Given the description of an element on the screen output the (x, y) to click on. 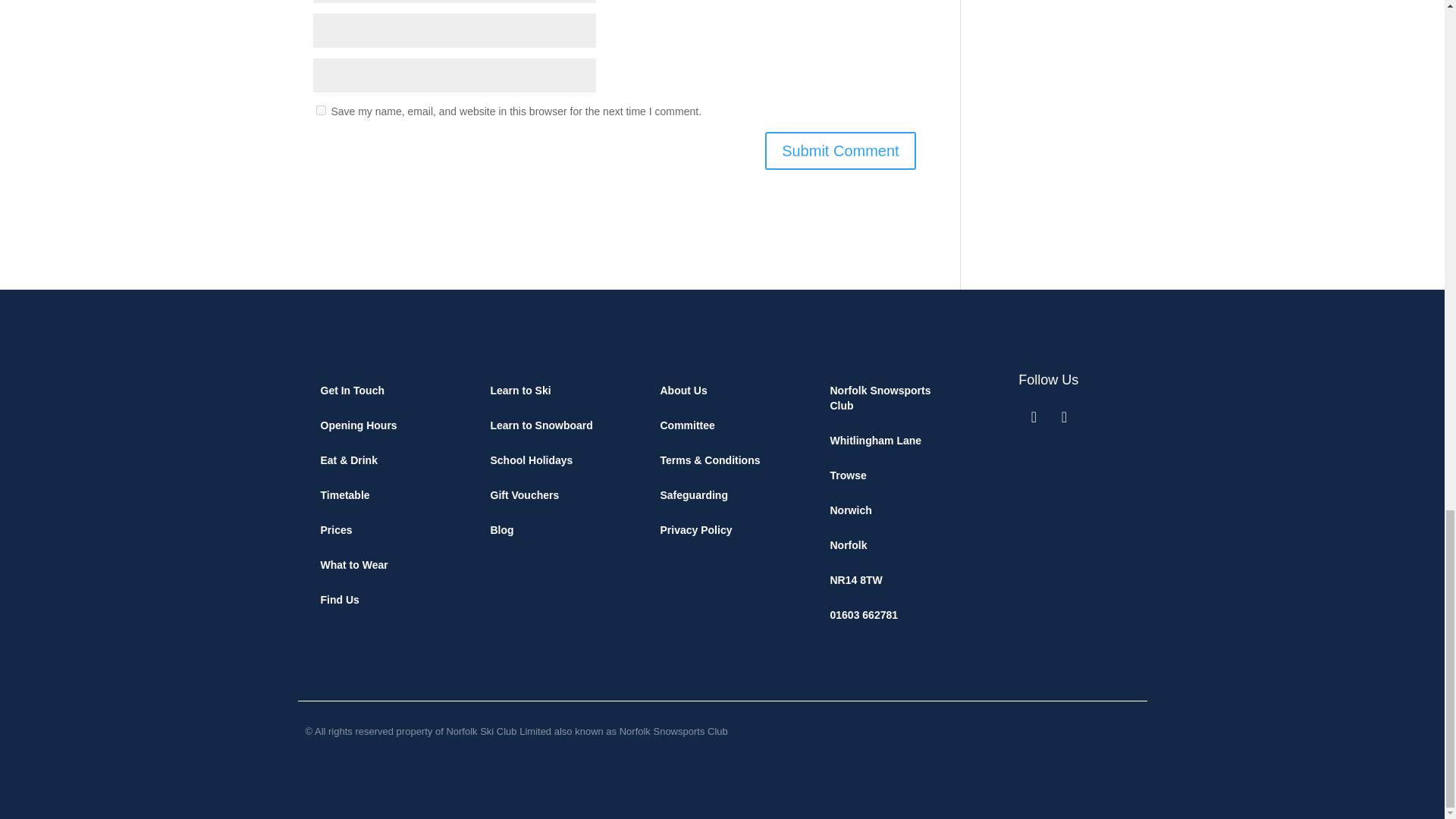
Opening Hours (382, 425)
Submit Comment (840, 150)
Prices (382, 529)
What to Wear (382, 564)
yes (319, 110)
Get In Touch (382, 390)
Submit Comment (840, 150)
Timetable (382, 494)
